Given the description of an element on the screen output the (x, y) to click on. 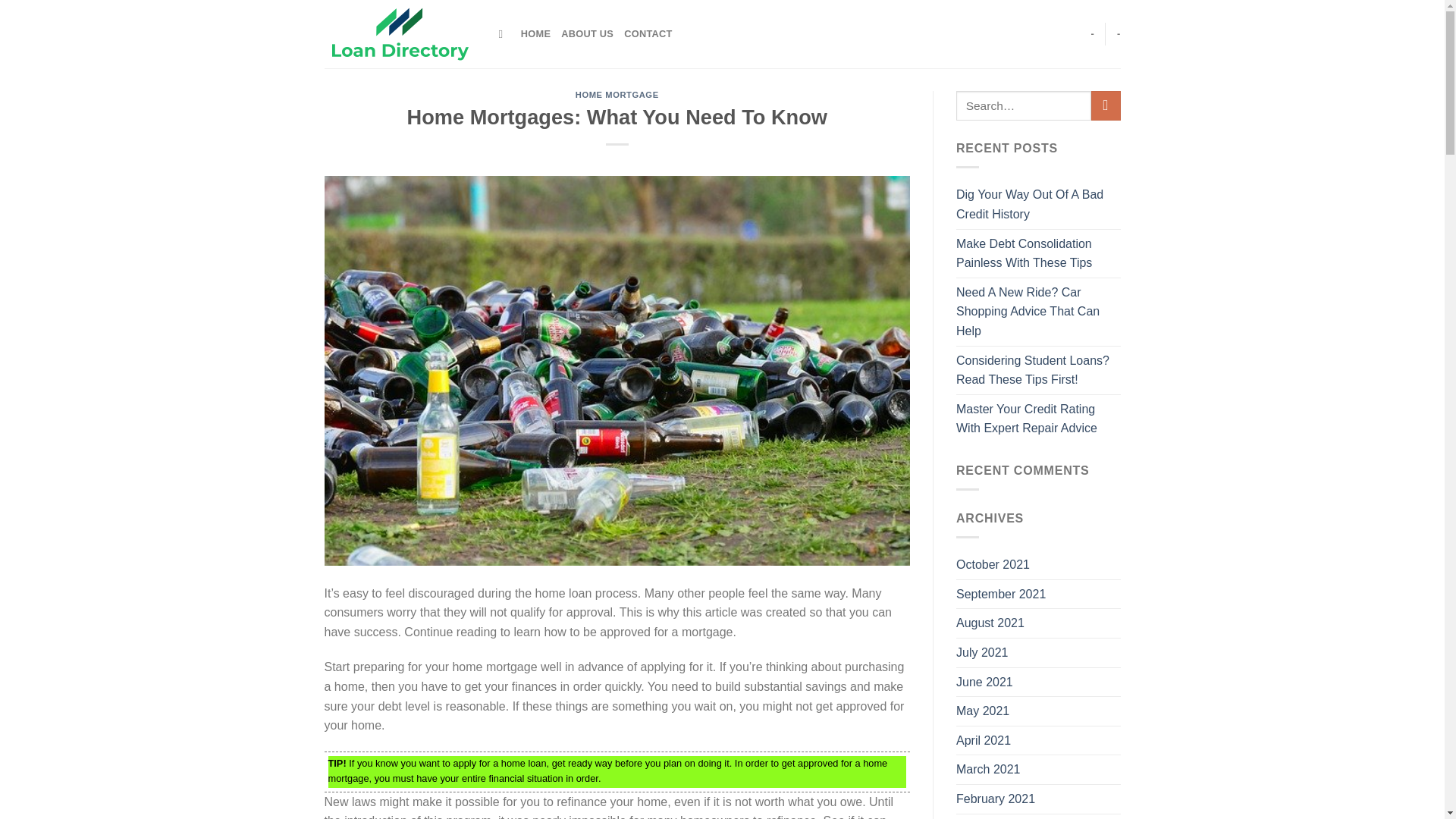
July 2021 (982, 652)
January 2021 (992, 816)
WooCommerce needed (1118, 33)
April 2021 (983, 740)
Need A New Ride? Car Shopping Advice That Can Help (1038, 311)
Make Debt Consolidation Painless With These Tips (1038, 253)
HOME (535, 33)
September 2021 (1000, 594)
WooCommerce needed (1092, 33)
August 2021 (990, 623)
March 2021 (988, 769)
- (1092, 33)
February 2021 (995, 799)
CONTACT (647, 33)
Considering Student Loans? Read These Tips First! (1038, 369)
